Given the description of an element on the screen output the (x, y) to click on. 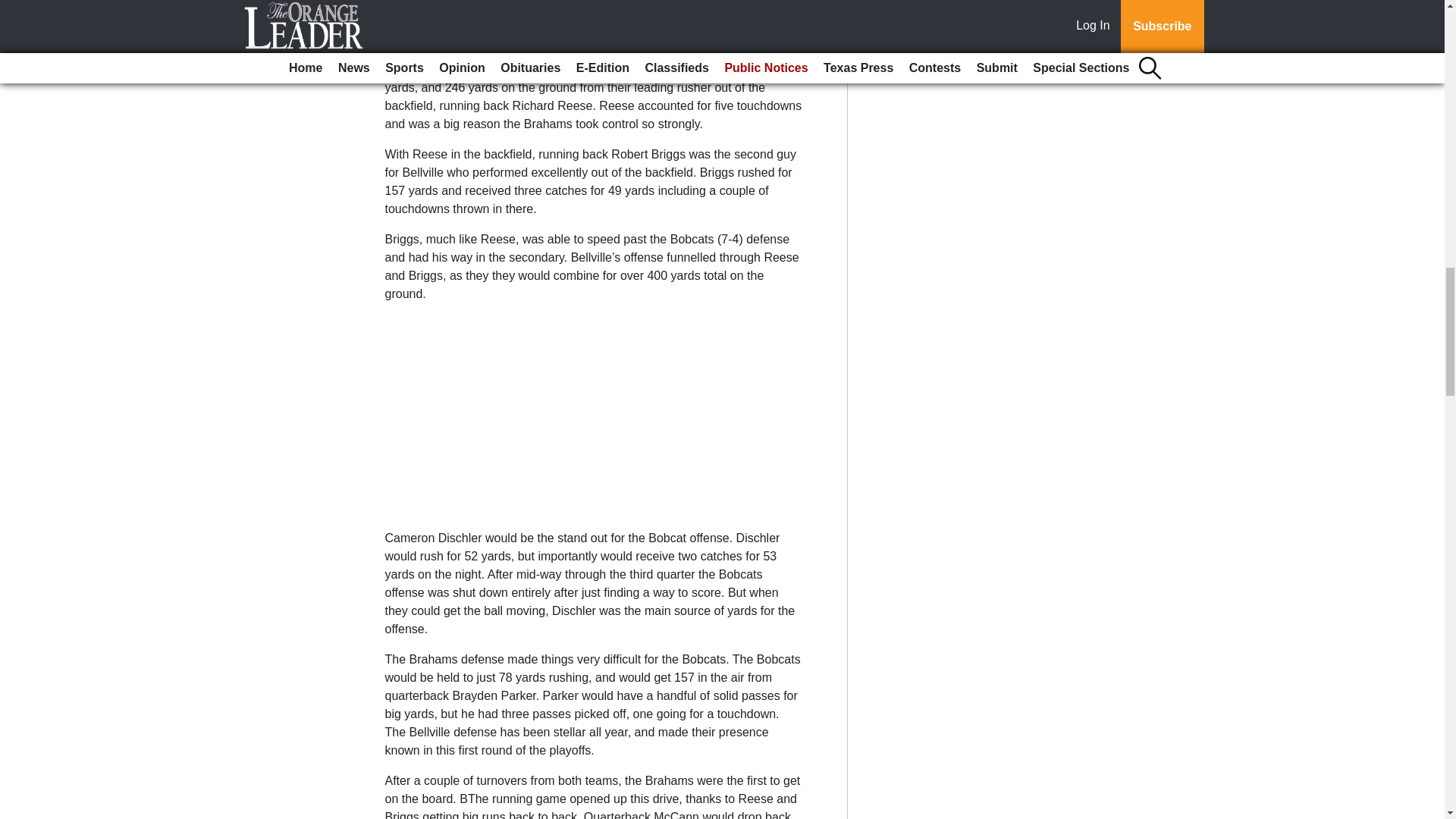
Subscribe (434, 19)
Subscribe (434, 19)
